Given the description of an element on the screen output the (x, y) to click on. 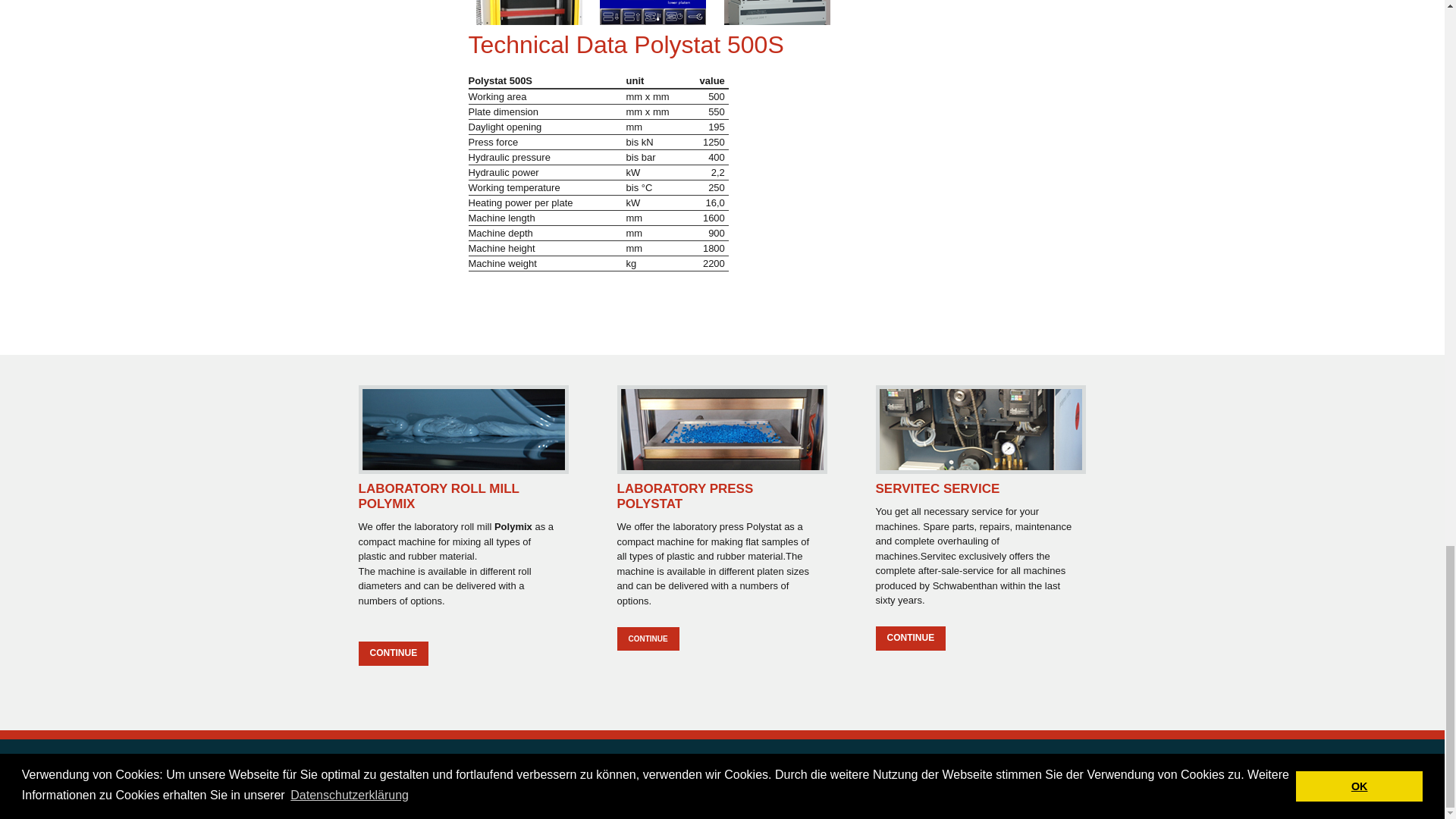
Presses (560, 767)
CONTINUE (393, 653)
News (737, 767)
History (648, 767)
Service (467, 767)
Rolling mills (386, 767)
Contact (832, 767)
Imprint (922, 767)
Privacy Policy (1027, 767)
CONTINUE (909, 638)
